Given the description of an element on the screen output the (x, y) to click on. 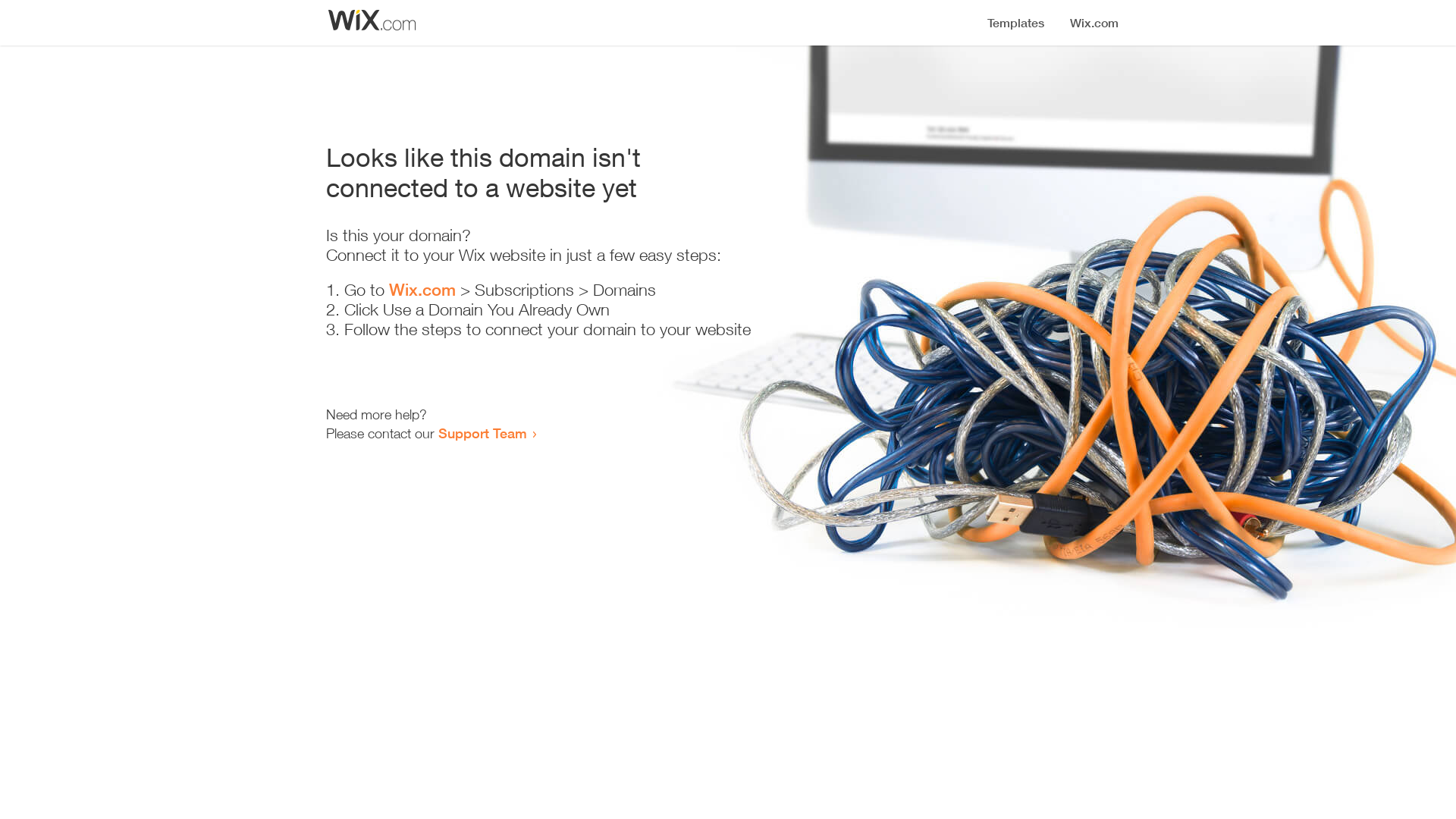
Support Team Element type: text (482, 432)
Wix.com Element type: text (422, 289)
